Given the description of an element on the screen output the (x, y) to click on. 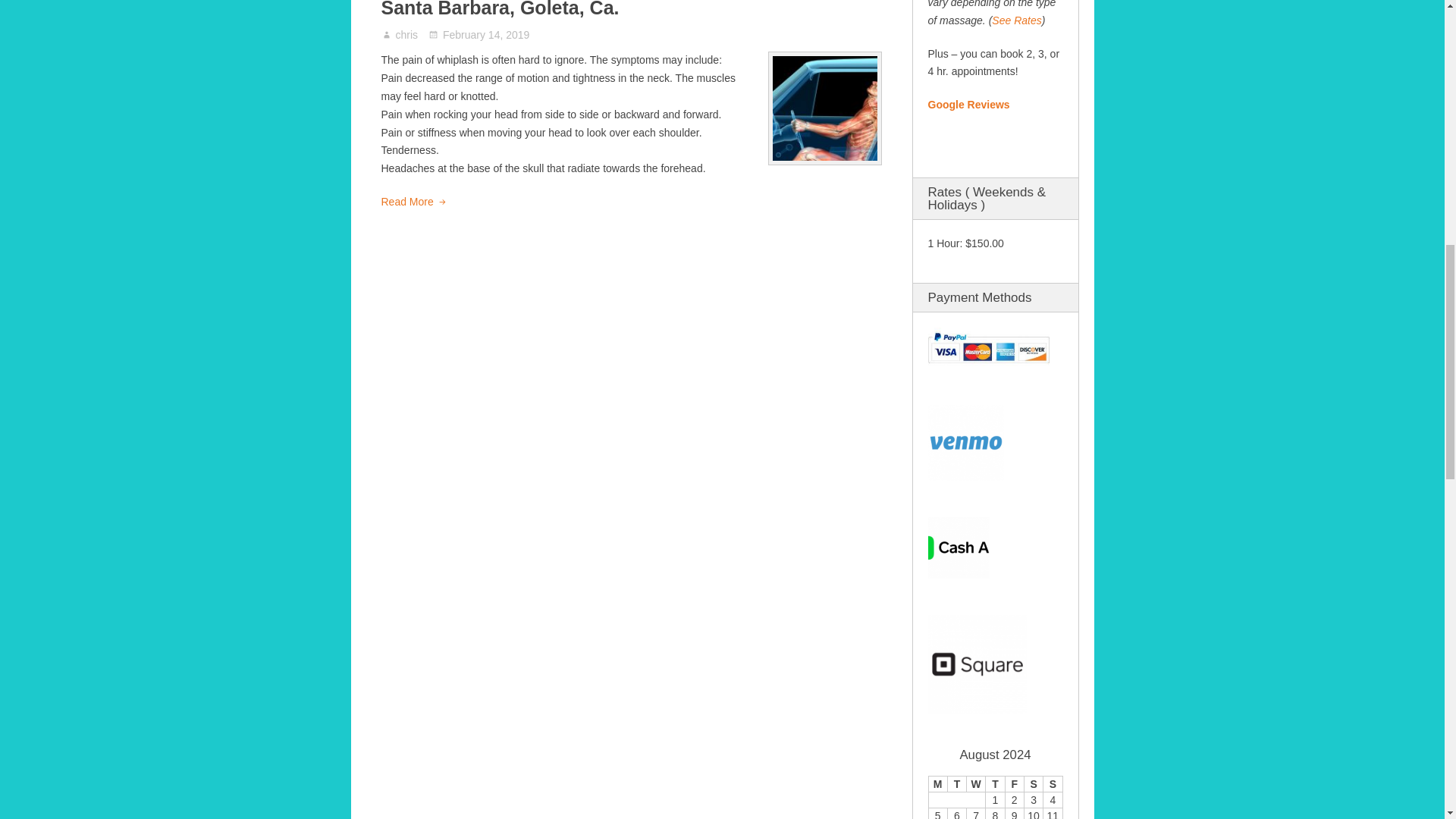
chris (407, 34)
Payment Methods (988, 348)
Tuesday (956, 783)
Google Reviews (969, 104)
See Rates (1016, 20)
Monday (937, 783)
February 14, 2019 (478, 34)
Thursday (994, 783)
Saturday (1032, 783)
Read More (413, 202)
Sunday (1052, 783)
Friday (1013, 783)
Wednesday (975, 783)
Posts by chris (407, 34)
